Given the description of an element on the screen output the (x, y) to click on. 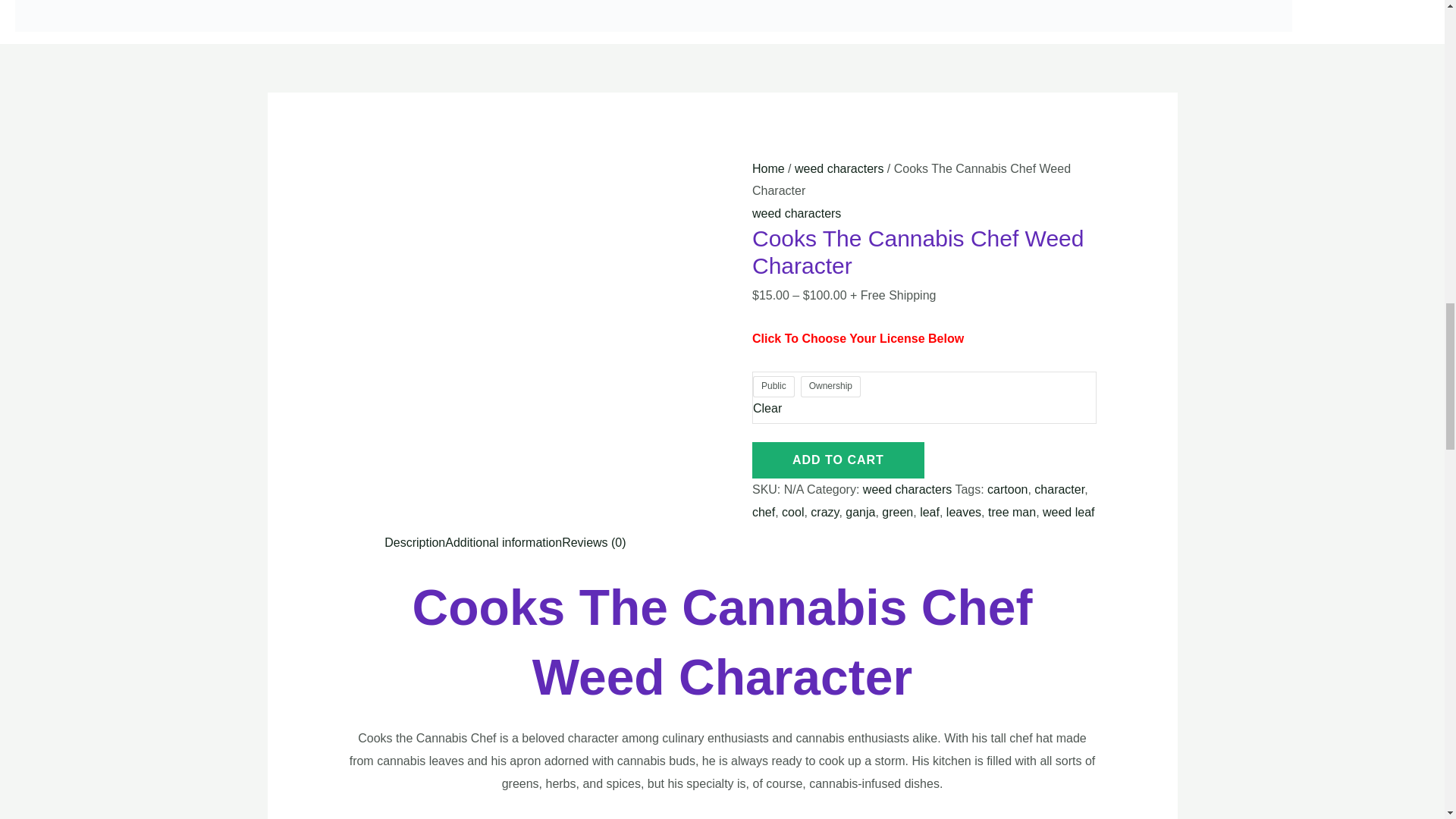
ganja (860, 512)
leaves (963, 512)
ADD TO CART (838, 460)
chef (763, 512)
weed characters (838, 168)
crazy (824, 512)
Clear (766, 408)
leaf (929, 512)
cool (792, 512)
character (1058, 489)
